Given the description of an element on the screen output the (x, y) to click on. 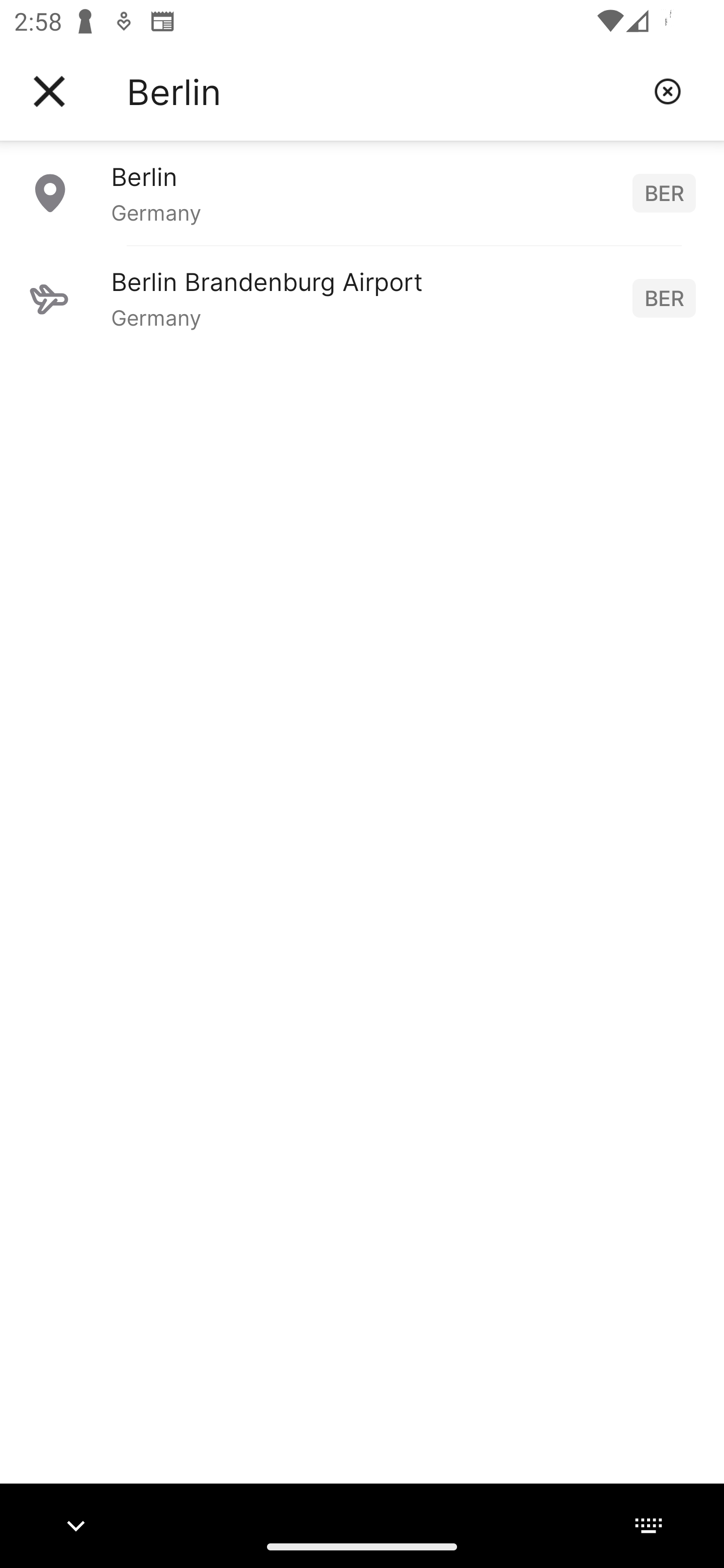
Berlin (382, 91)
Berlin Germany BER (362, 192)
Berlin Brandenburg Airport Germany BER (362, 297)
